Given the description of an element on the screen output the (x, y) to click on. 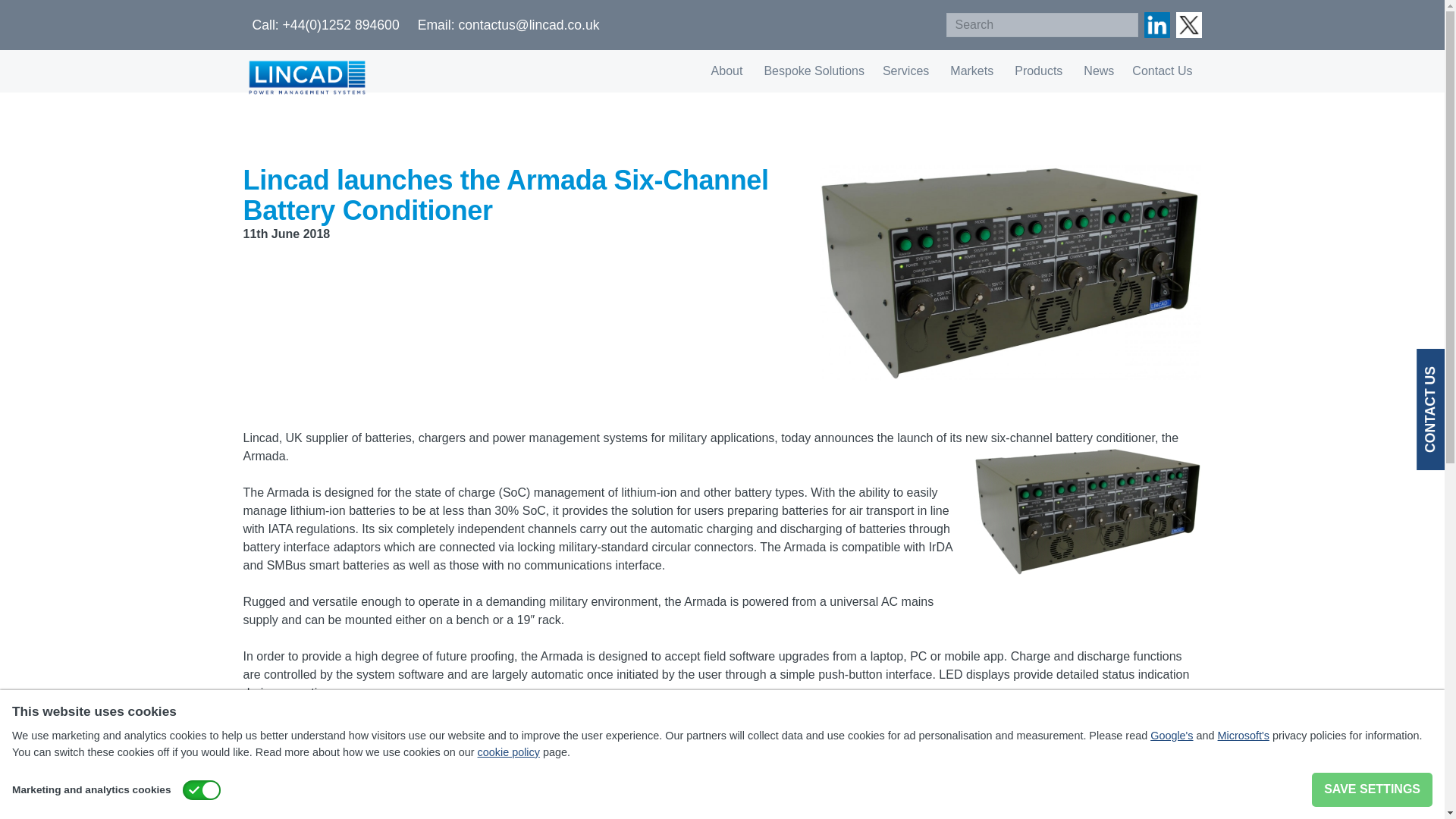
SEARCH (1121, 24)
Products (1040, 70)
Follow us on LinkedIn (1155, 24)
News (1098, 70)
About (728, 70)
Services (906, 70)
Contact Us (1161, 70)
Follow us on X (1187, 24)
Markets (973, 70)
Bespoke Solutions (813, 70)
